Given the description of an element on the screen output the (x, y) to click on. 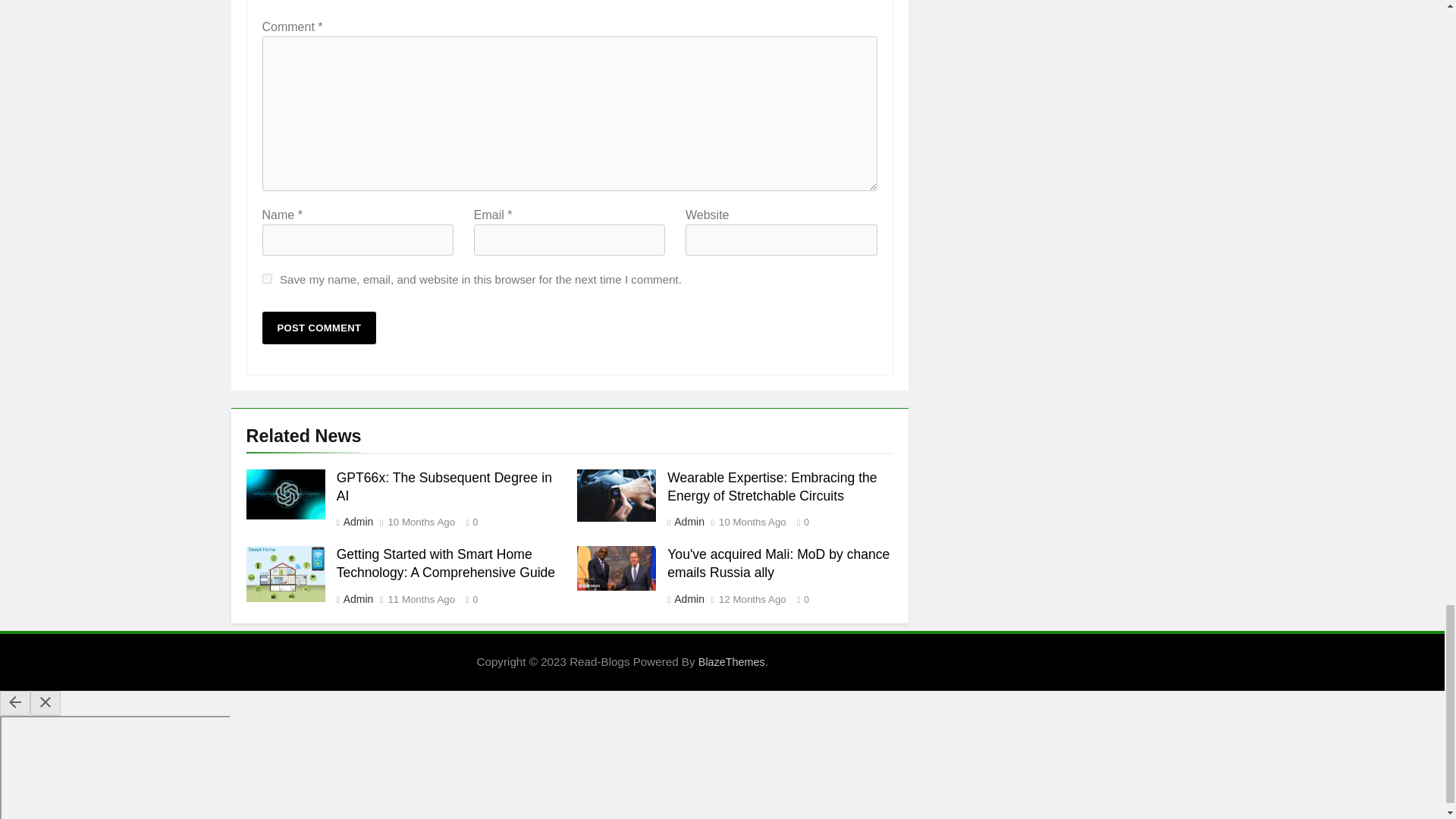
yes (267, 278)
Post Comment (319, 327)
